Given the description of an element on the screen output the (x, y) to click on. 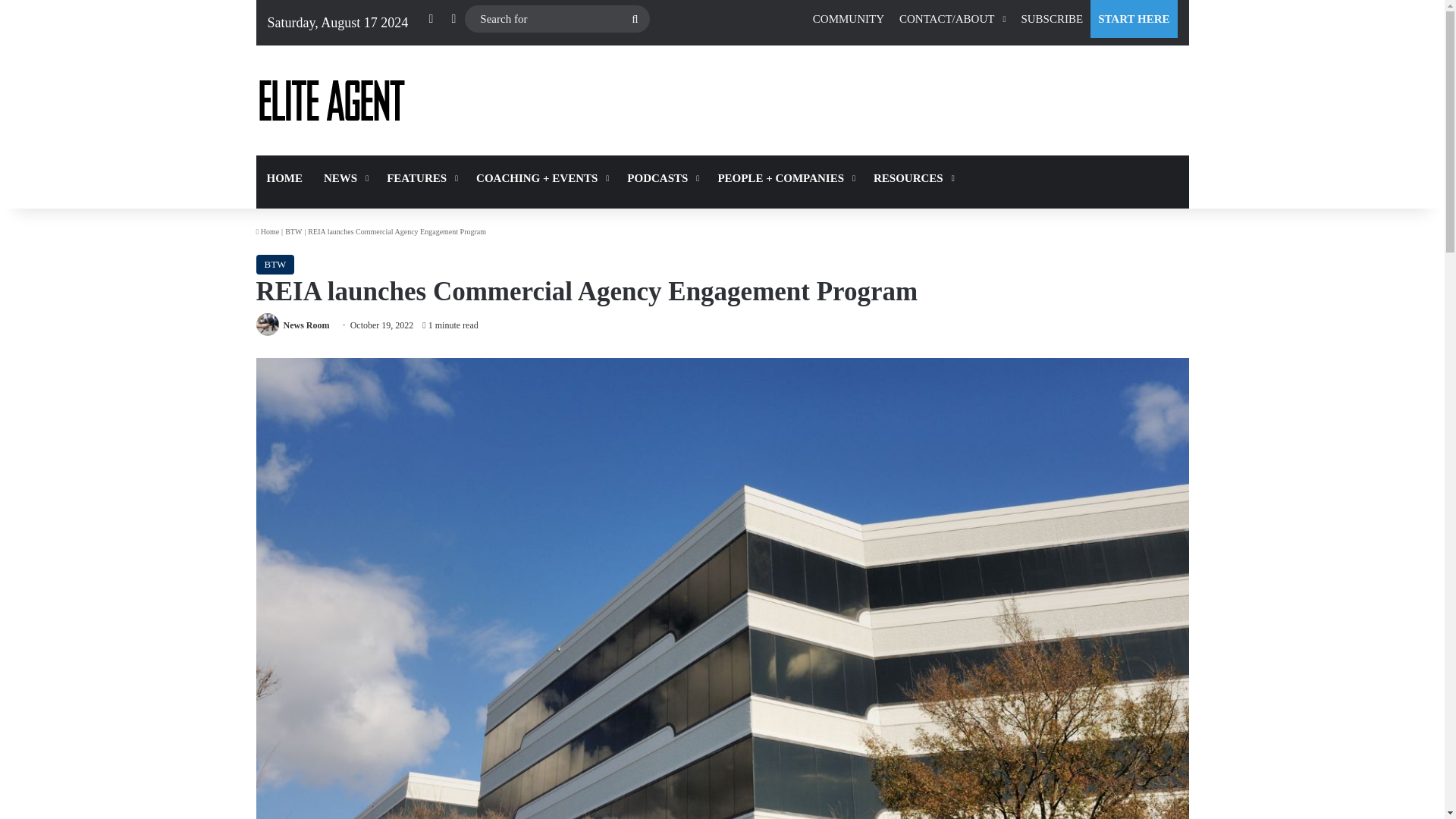
Search for (556, 18)
COMMUNITY (848, 18)
SUBSCRIBE (1051, 18)
START HERE (1133, 18)
News Room (306, 325)
NEWS (344, 177)
Elite Agent (331, 100)
HOME (285, 177)
FEATURES (420, 177)
